Given the description of an element on the screen output the (x, y) to click on. 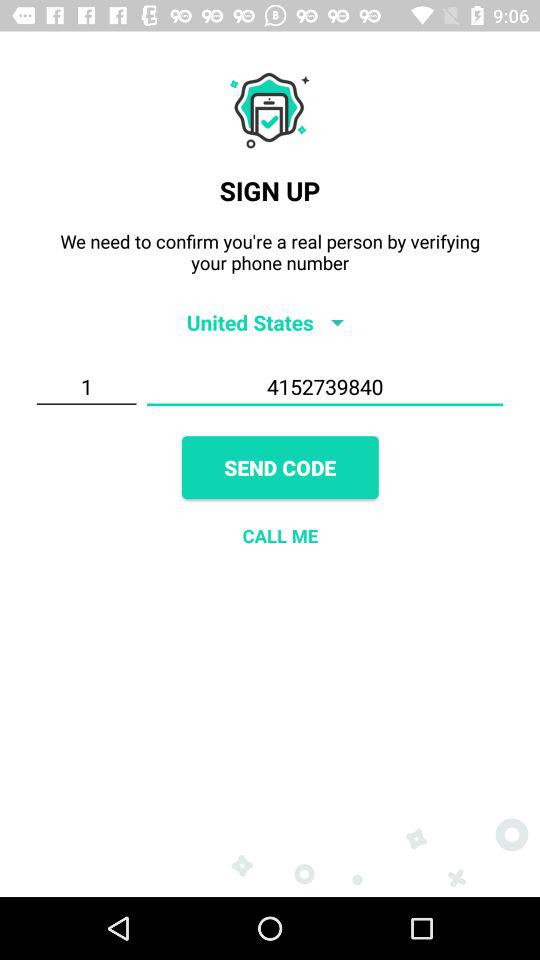
jump until 4152739840 item (324, 387)
